Given the description of an element on the screen output the (x, y) to click on. 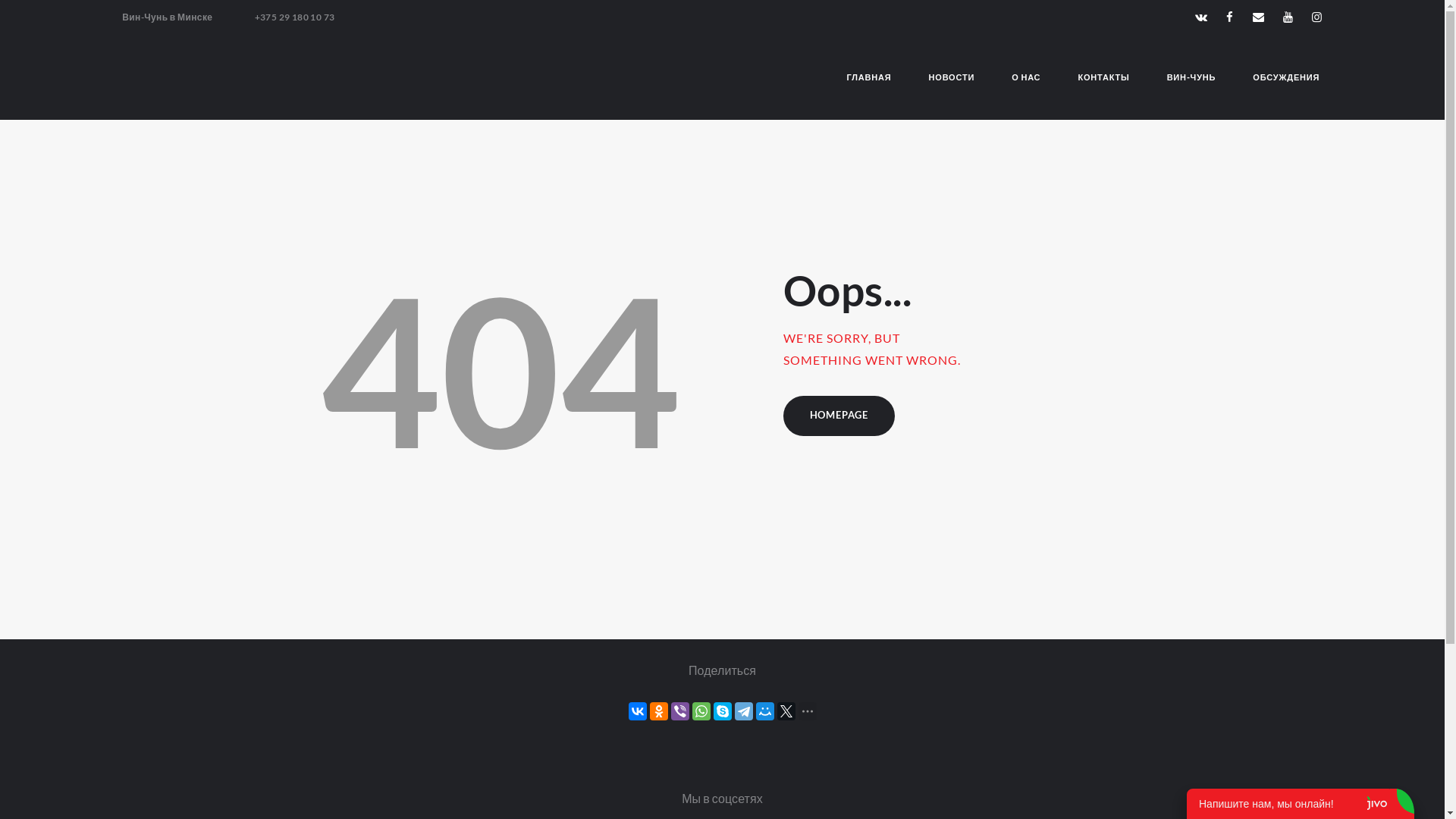
Skype Element type: hover (721, 711)
Telegram Element type: hover (743, 711)
Viber Element type: hover (679, 711)
Twitter Element type: hover (785, 711)
WhatsApp Element type: hover (700, 711)
HOMEPAGE Element type: text (838, 415)
